Given the description of an element on the screen output the (x, y) to click on. 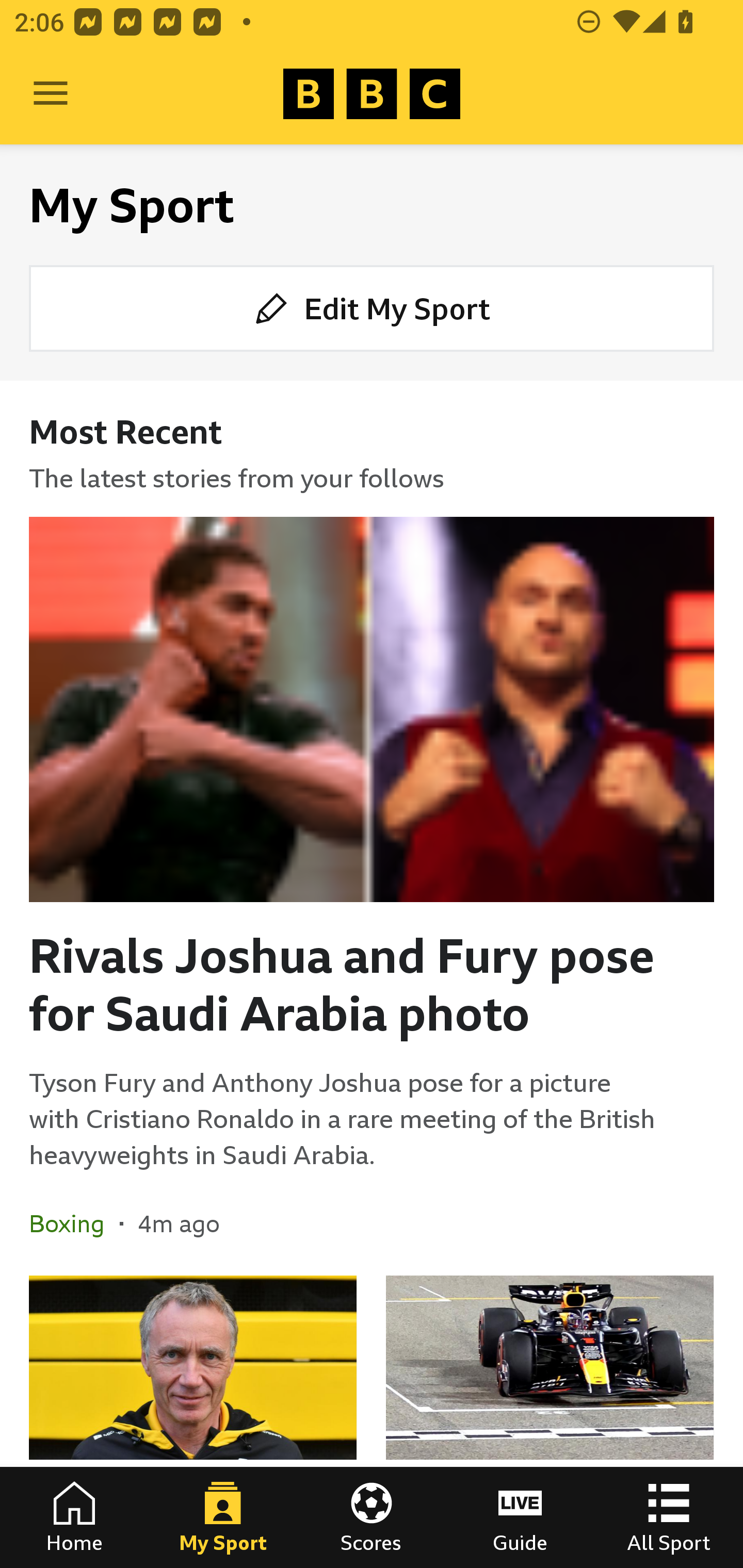
Open Menu (50, 93)
Edit My Sport (371, 307)
Engineer Bell leaves struggling Alpine (192, 1421)
Home (74, 1517)
Scores (371, 1517)
Guide (519, 1517)
All Sport (668, 1517)
